Given the description of an element on the screen output the (x, y) to click on. 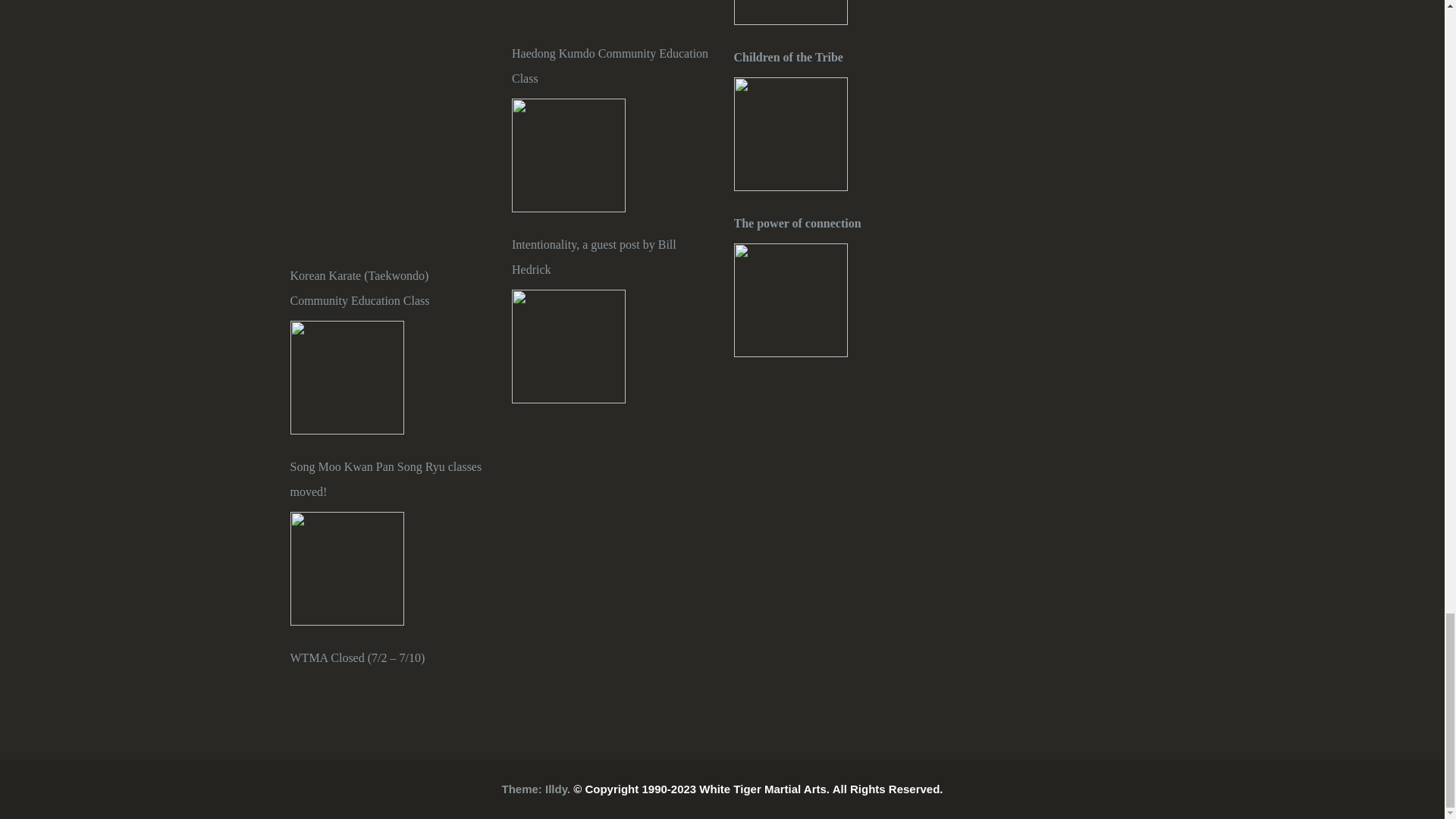
Song Moo Kwan Pan Song Ryu classes moved! (346, 568)
Intentionality, a guest post by Bill Hedrick (569, 346)
Intentionality, a guest post by Bill Hedrick (611, 256)
Song Moo Kwan Pan Song Ryu classes moved! (389, 479)
Haedong Kumdo Community Education Class (611, 65)
Haedong Kumdo Community Education Class (569, 155)
Children of the Tribe (833, 57)
The power of connection (833, 222)
Illdy (555, 788)
USA HK Dan Test cutting 05 APR 2024 (569, 10)
